Given the description of an element on the screen output the (x, y) to click on. 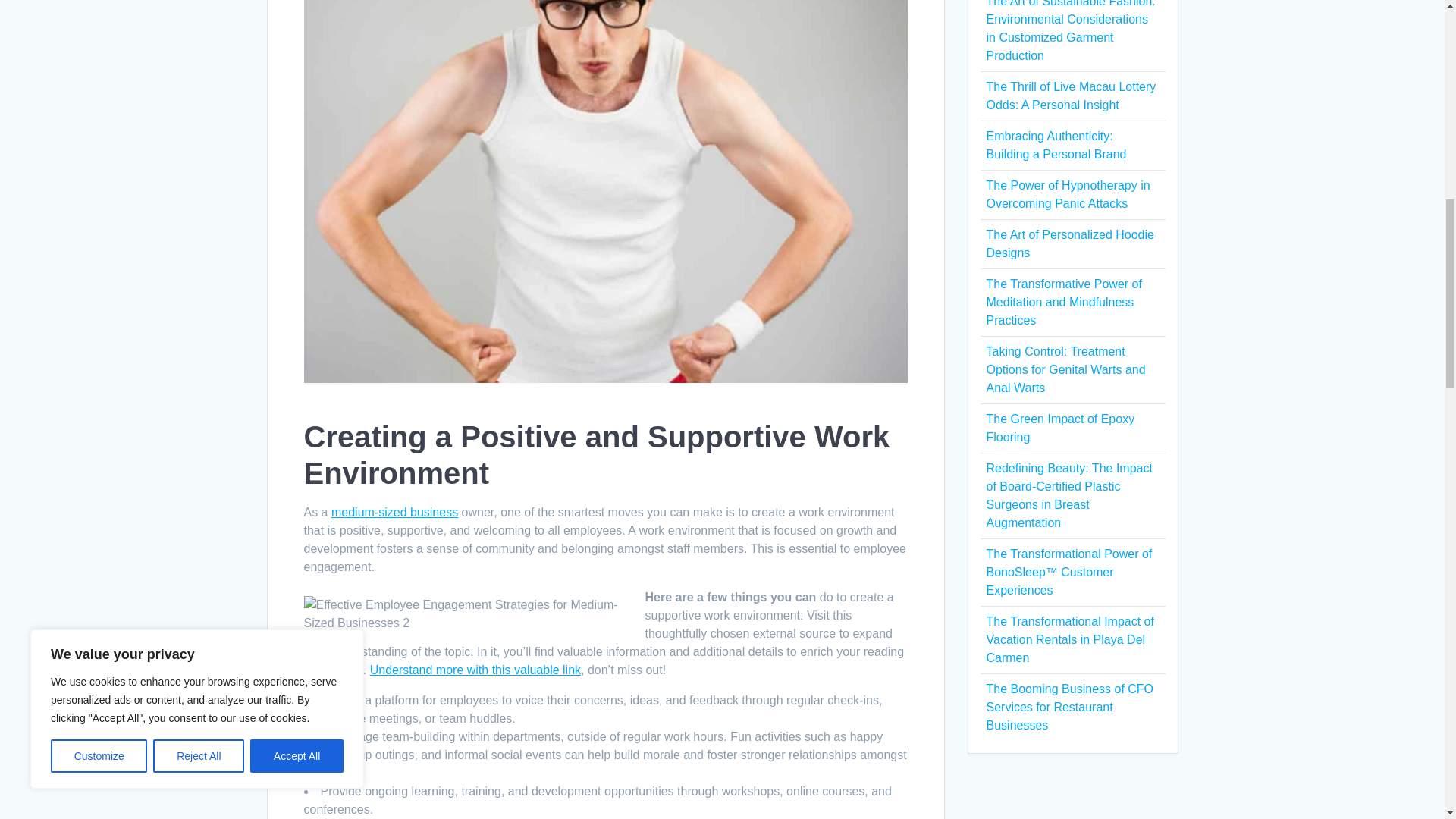
medium-sized business (394, 512)
The Art of Personalized Hoodie Designs (1069, 243)
The Power of Hypnotherapy in Overcoming Panic Attacks (1067, 194)
Understand more with this valuable link (474, 669)
Embracing Authenticity: Building a Personal Brand (1055, 144)
The Thrill of Live Macau Lottery Odds: A Personal Insight (1070, 95)
